Given the description of an element on the screen output the (x, y) to click on. 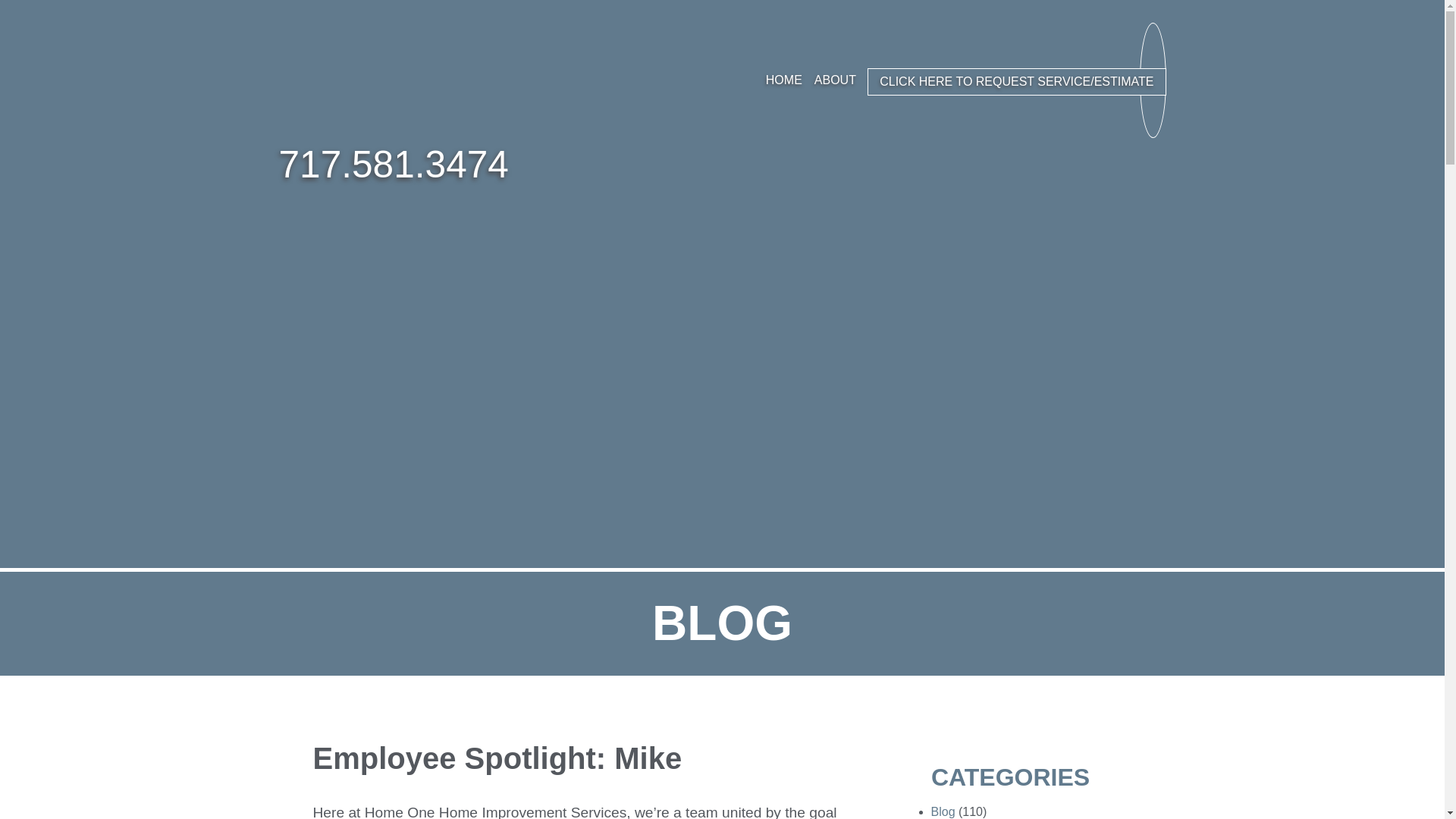
Blog (943, 811)
CONTACT (1092, 80)
717.581.3474 (393, 164)
SERVICES (898, 80)
HOME (784, 80)
PROJECTS (973, 80)
ABOUT (834, 80)
BLOG (1034, 80)
